Given the description of an element on the screen output the (x, y) to click on. 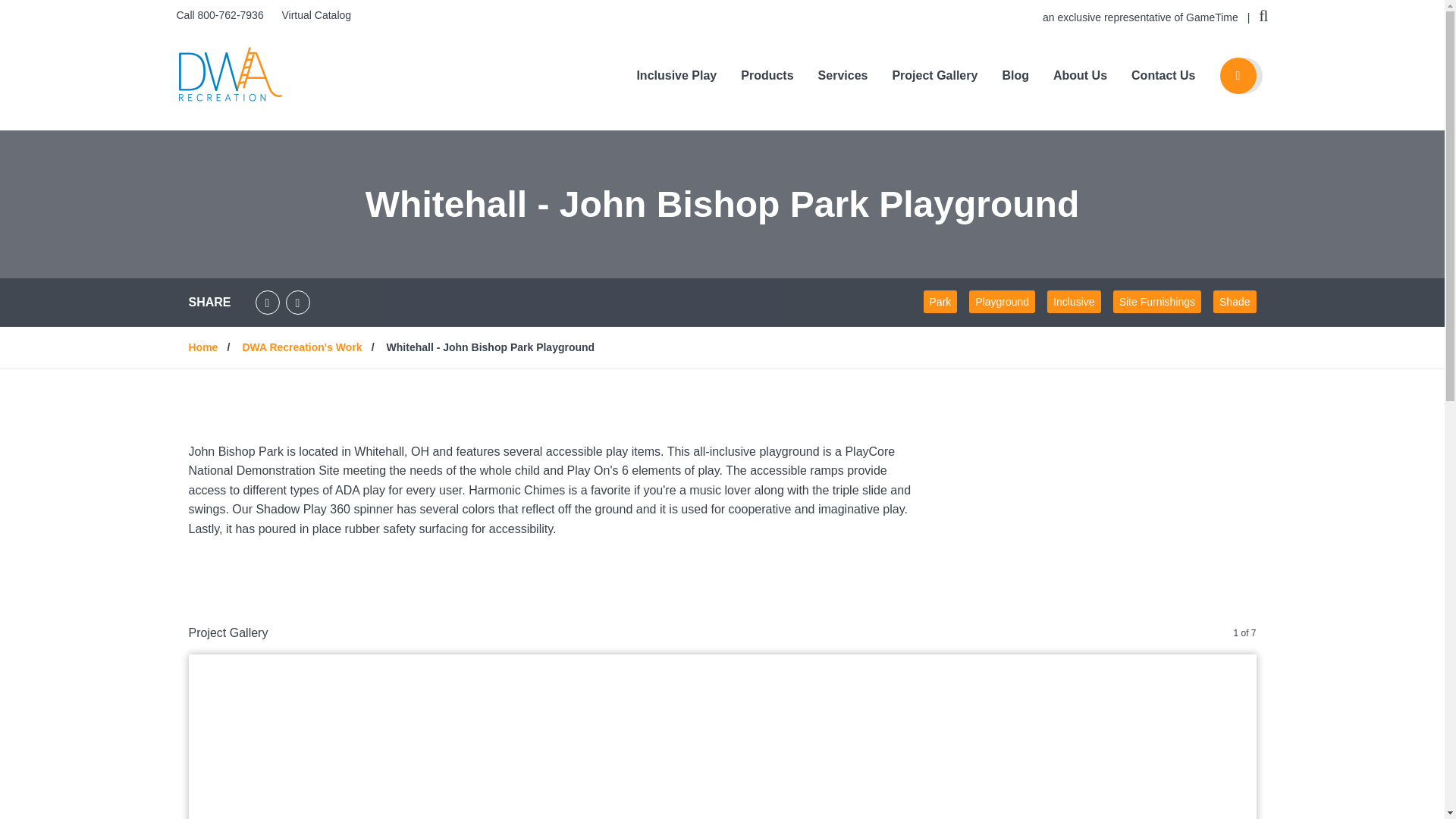
Services (842, 75)
Inclusive Play (676, 75)
an exclusive representative of GameTime (1141, 17)
Inclusive Play (676, 75)
Call us at 8007627936 (221, 15)
Services (842, 75)
Products (767, 75)
Contact Us (1163, 75)
Project Gallery (933, 75)
Virtual Catalog (315, 15)
About Us (1079, 75)
Products (767, 75)
Virtual Catalog (315, 15)
Home (229, 74)
Call 800-762-7936 (221, 15)
